Given the description of an element on the screen output the (x, y) to click on. 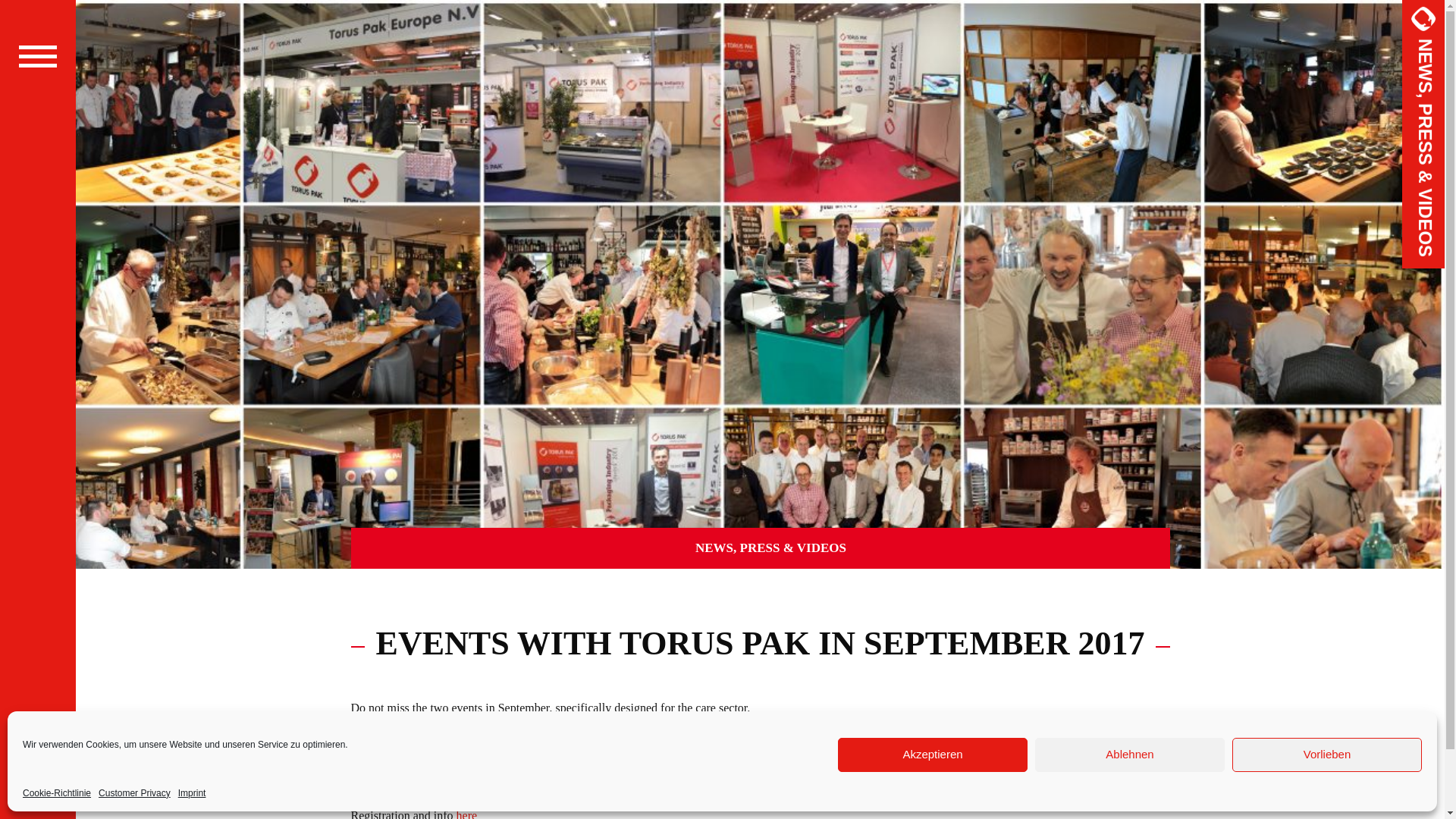
here (467, 814)
Imprint (191, 793)
Ablehnen (1129, 754)
Customer Privacy (134, 793)
Akzeptieren (932, 754)
Cookie-Richtlinie (56, 793)
here (451, 770)
Vorlieben (1326, 754)
